Given the description of an element on the screen output the (x, y) to click on. 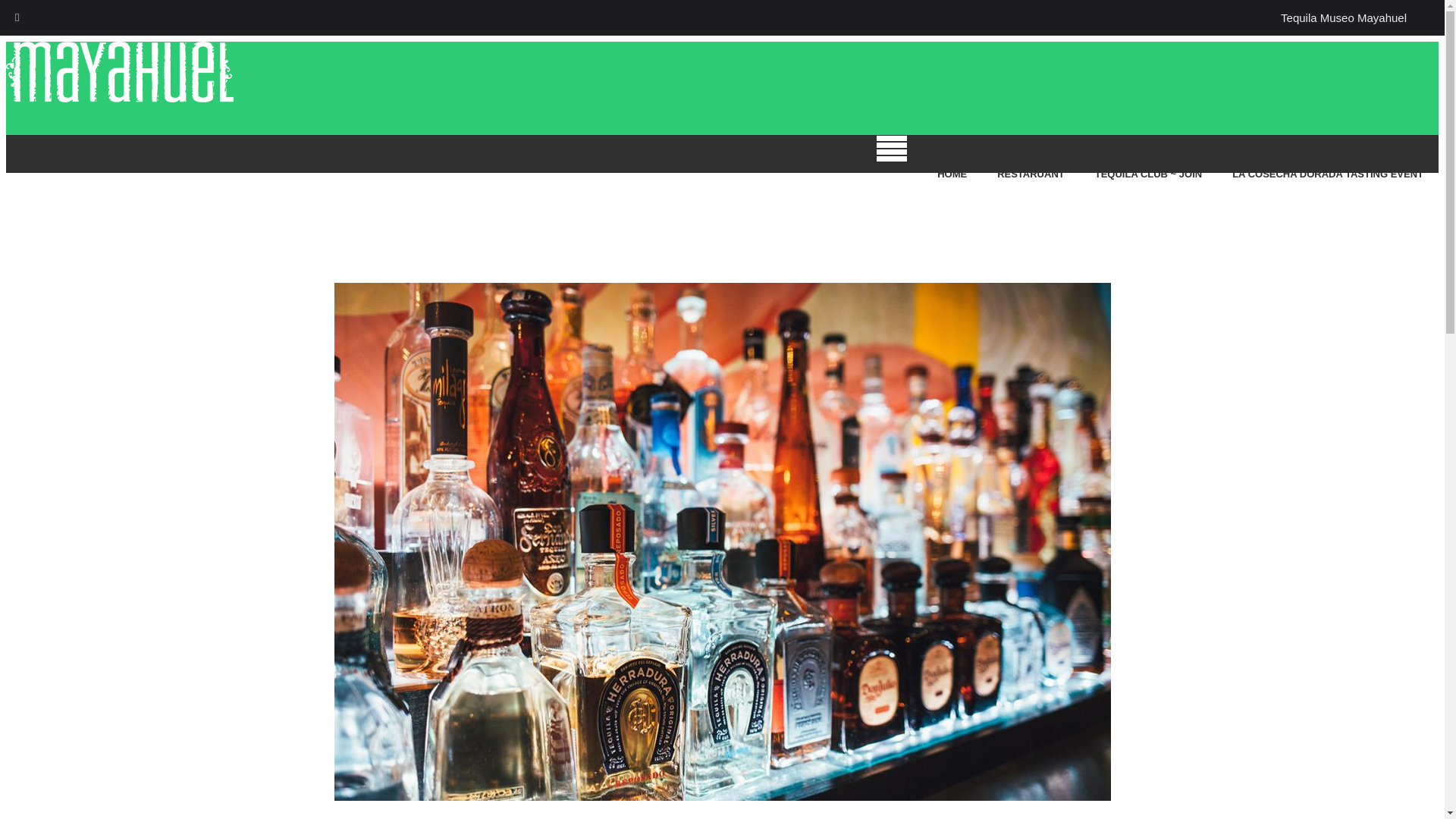
Tequila Museo Mayahuel (1343, 17)
LA COSECHA DORADA TASTING EVENT (1327, 176)
